Given the description of an element on the screen output the (x, y) to click on. 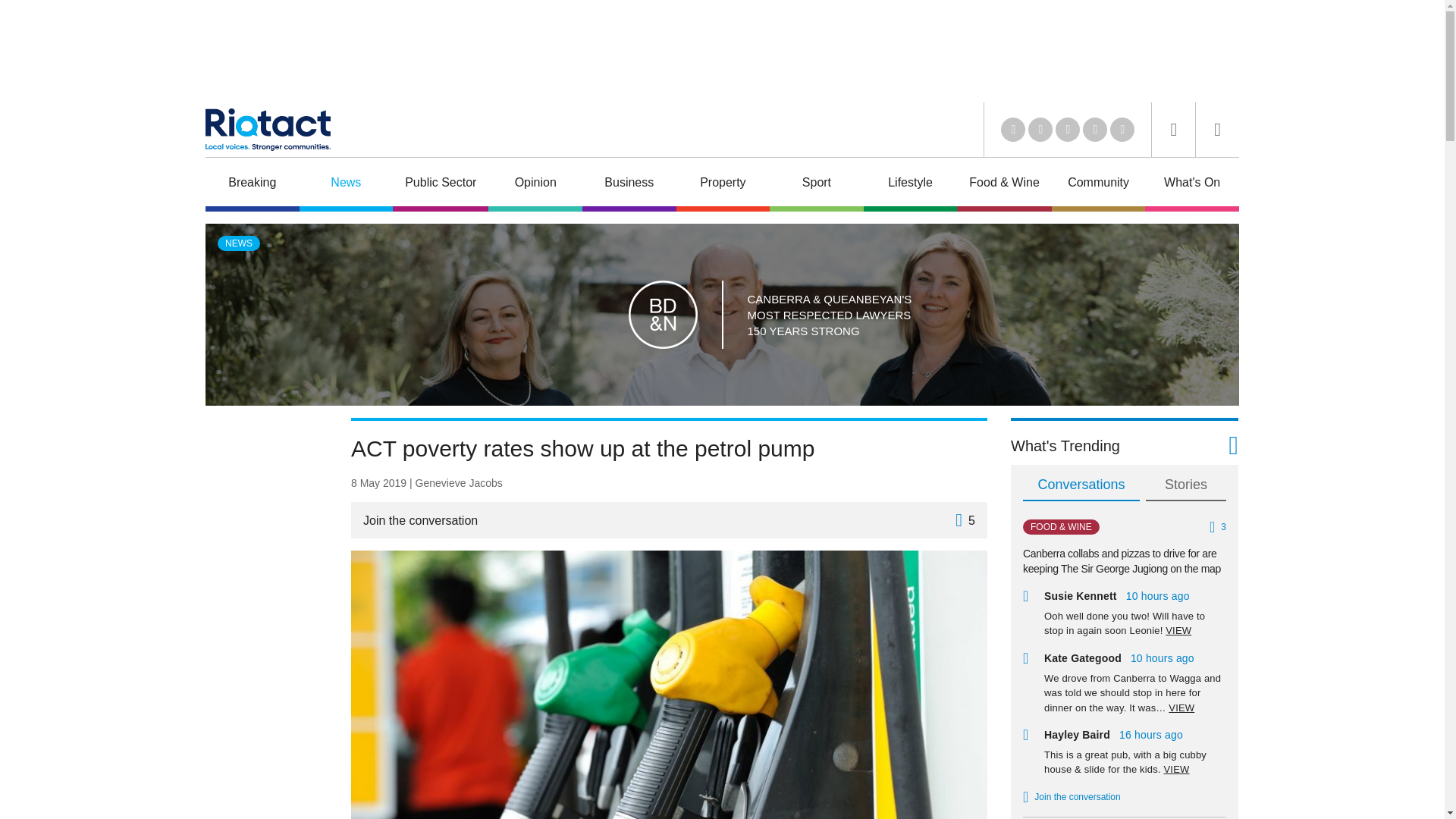
Breaking (252, 184)
Facebook (1094, 129)
Riotact Home (267, 129)
Youtube (1067, 129)
Instagram (1121, 129)
News (346, 184)
LinkedIn (1013, 129)
Twitter (1039, 129)
